Given the description of an element on the screen output the (x, y) to click on. 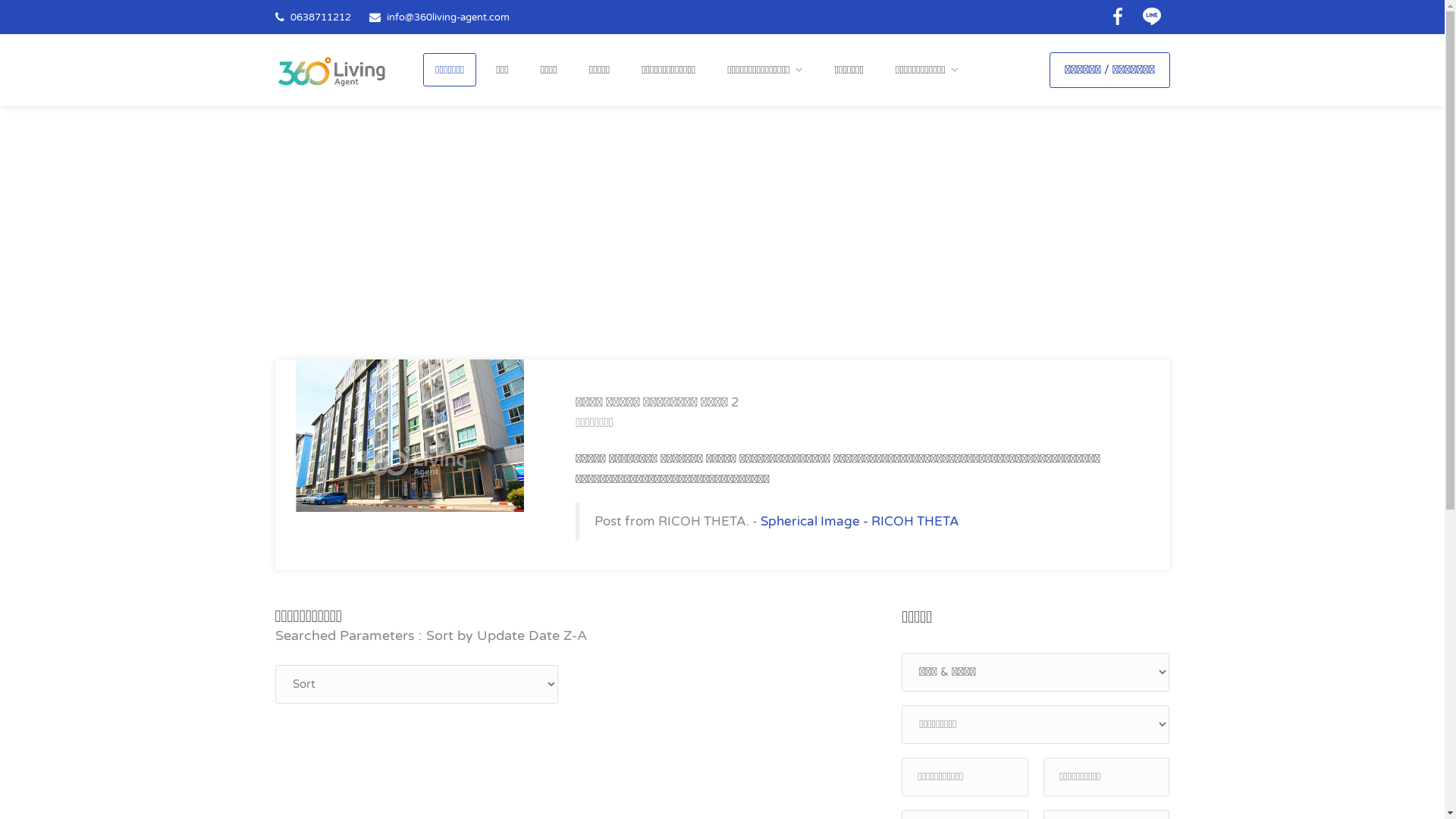
info@360living-agent.com Element type: text (447, 17)
Spherical Image - RICOH THETA Element type: text (859, 521)
